Given the description of an element on the screen output the (x, y) to click on. 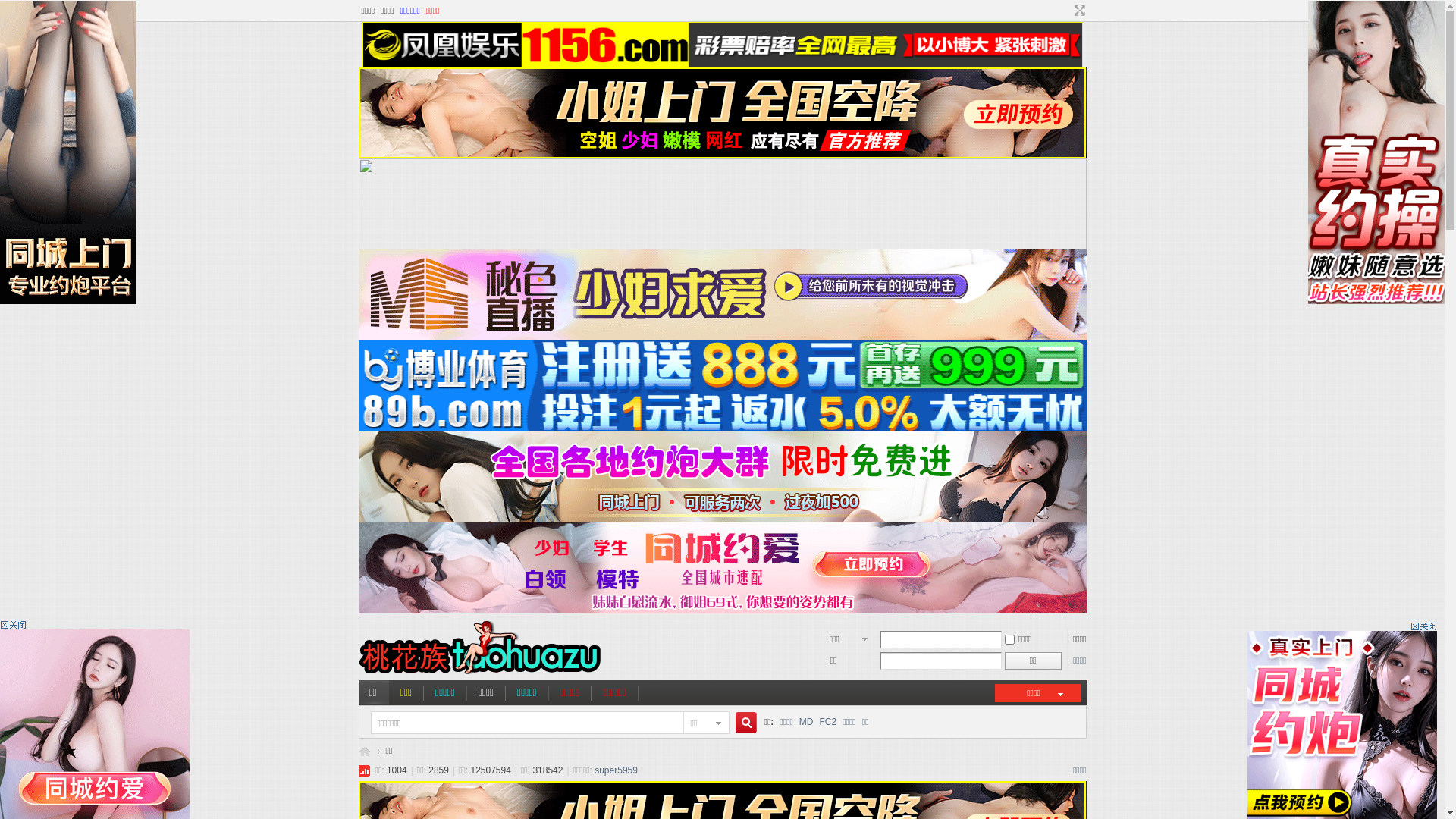
FC2 Element type: text (827, 721)
super5959 Element type: text (615, 770)
true Element type: text (740, 722)
MD Element type: text (806, 721)
